Given the description of an element on the screen output the (x, y) to click on. 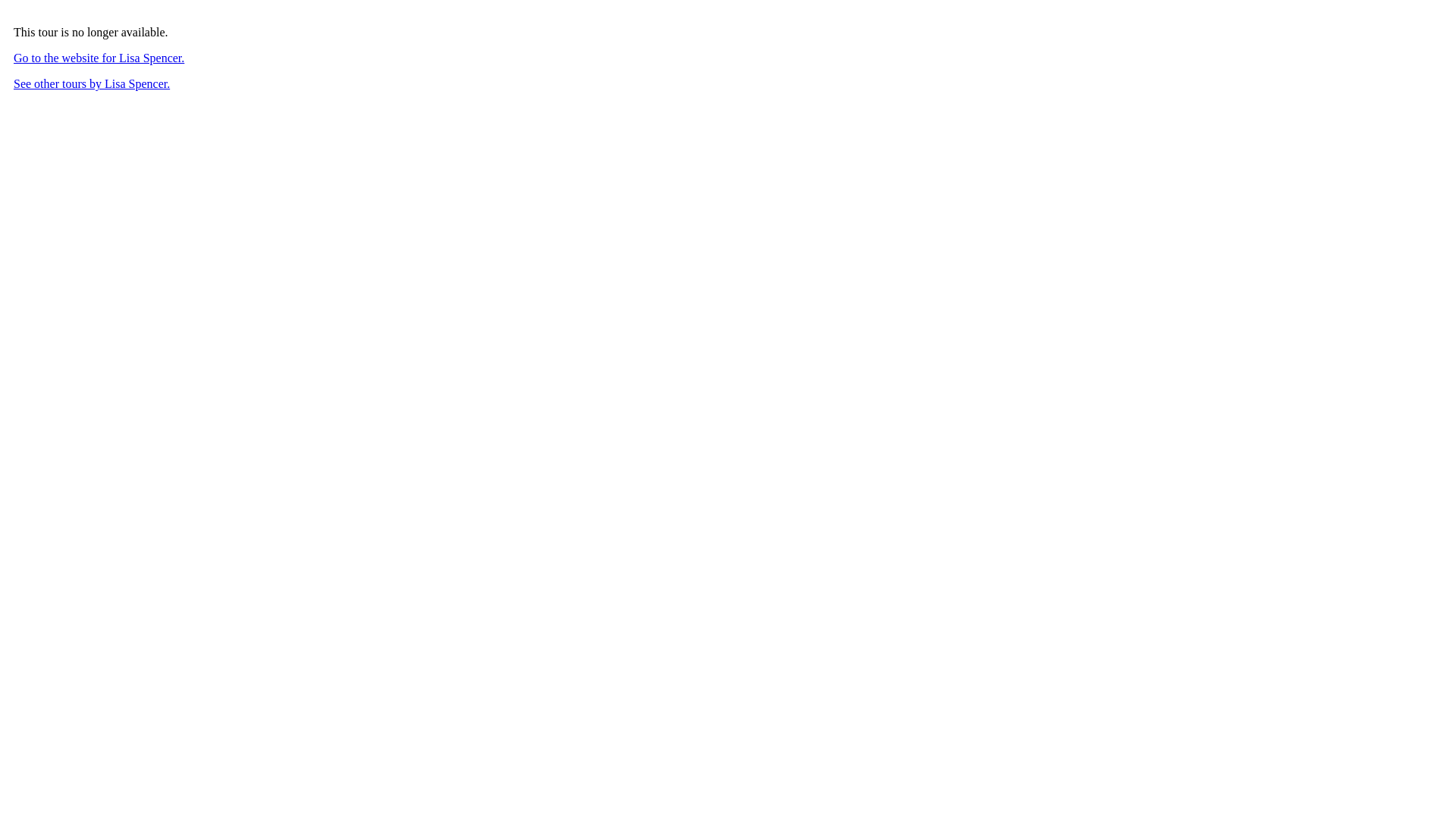
See other tours by Lisa Spencer. Element type: text (91, 83)
Go to the website for Lisa Spencer. Element type: text (98, 57)
